Given the description of an element on the screen output the (x, y) to click on. 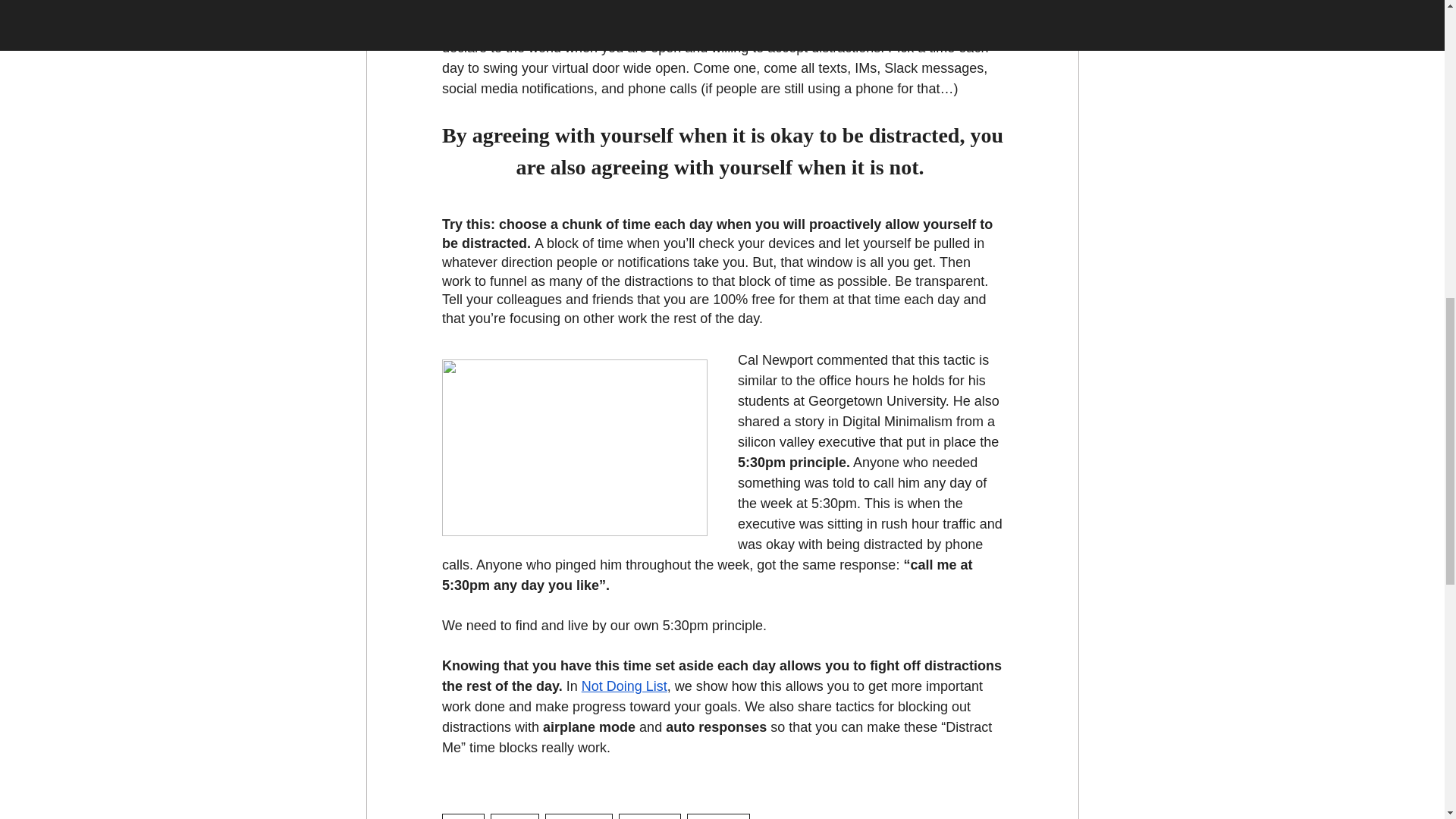
Time (462, 816)
Calendar (718, 816)
168 hours (577, 816)
Focus (514, 816)
Meetings (649, 816)
Not Doing List (623, 685)
